Given the description of an element on the screen output the (x, y) to click on. 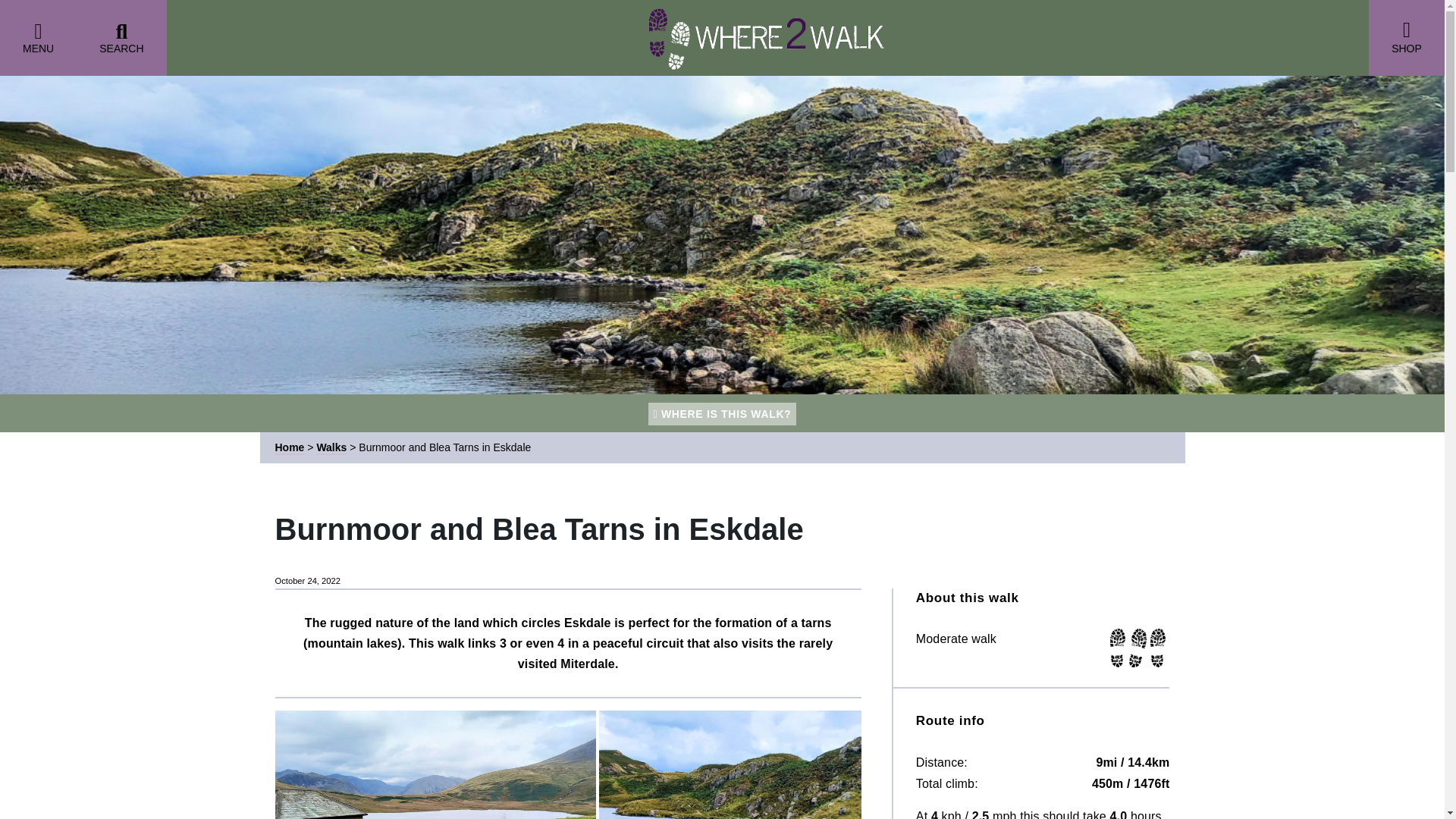
Home (289, 448)
SEARCH (121, 38)
MENU (38, 38)
Walks (330, 448)
